Given the description of an element on the screen output the (x, y) to click on. 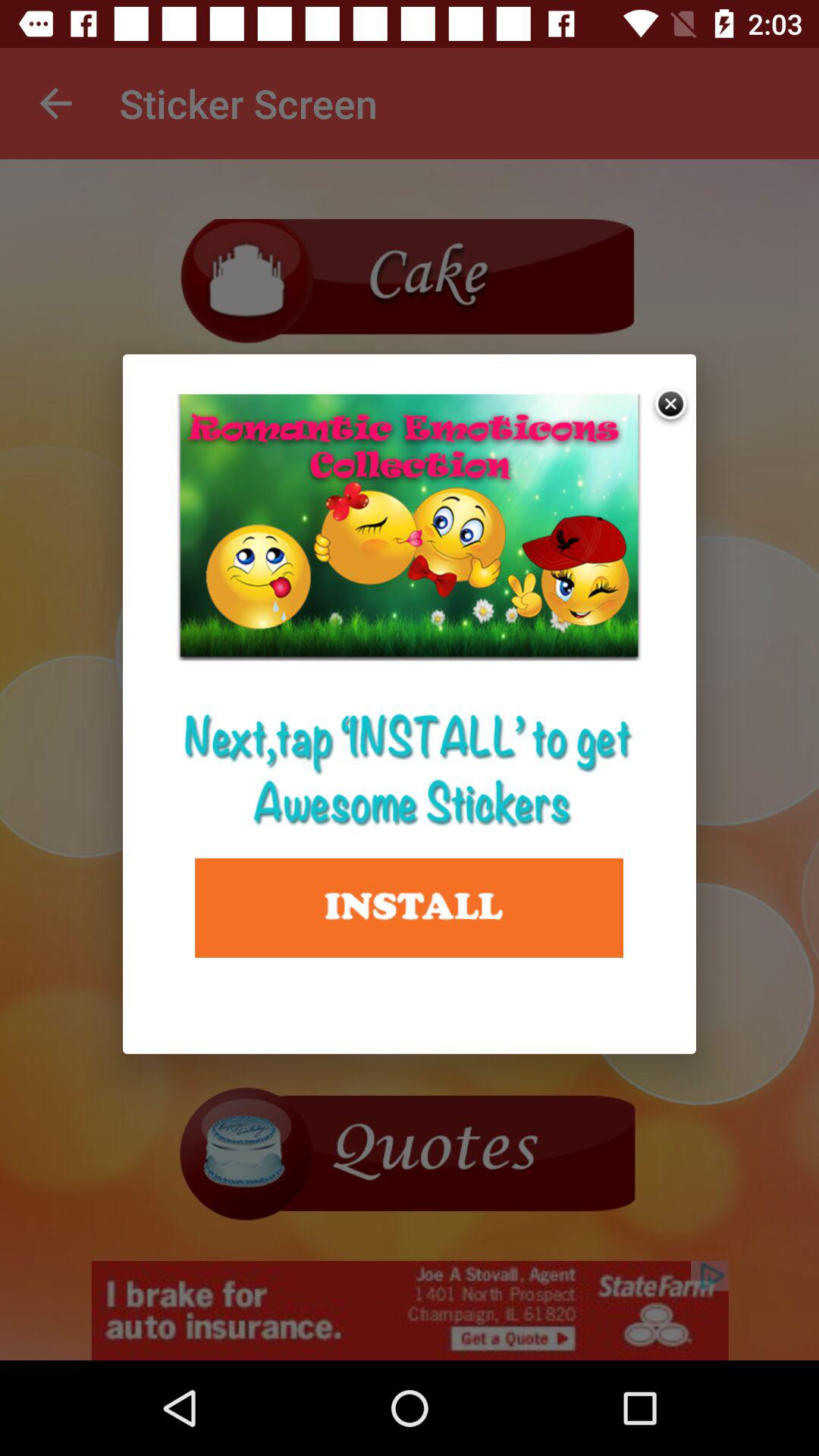
install (409, 907)
